Given the description of an element on the screen output the (x, y) to click on. 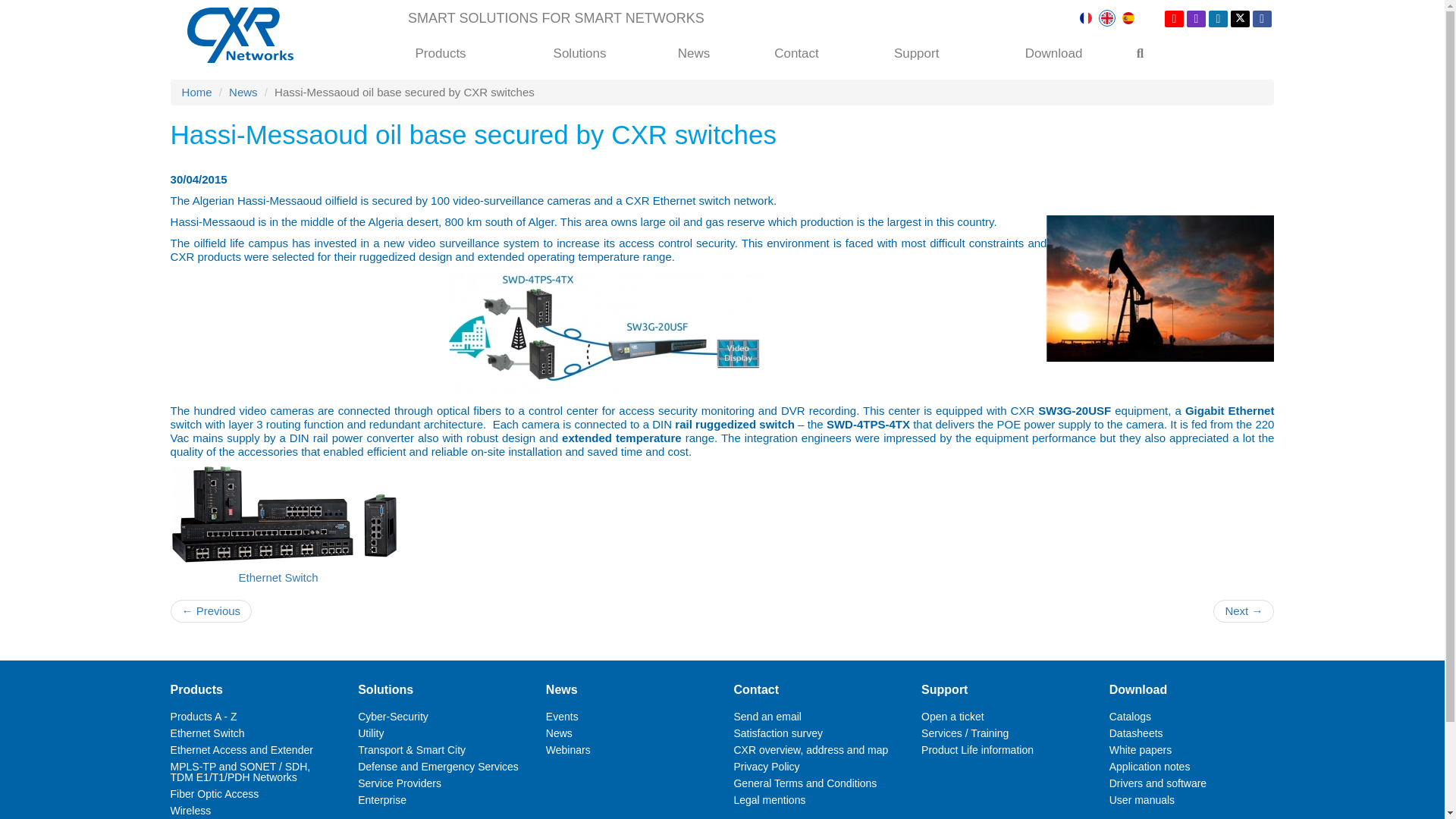
Products (440, 53)
